Given the description of an element on the screen output the (x, y) to click on. 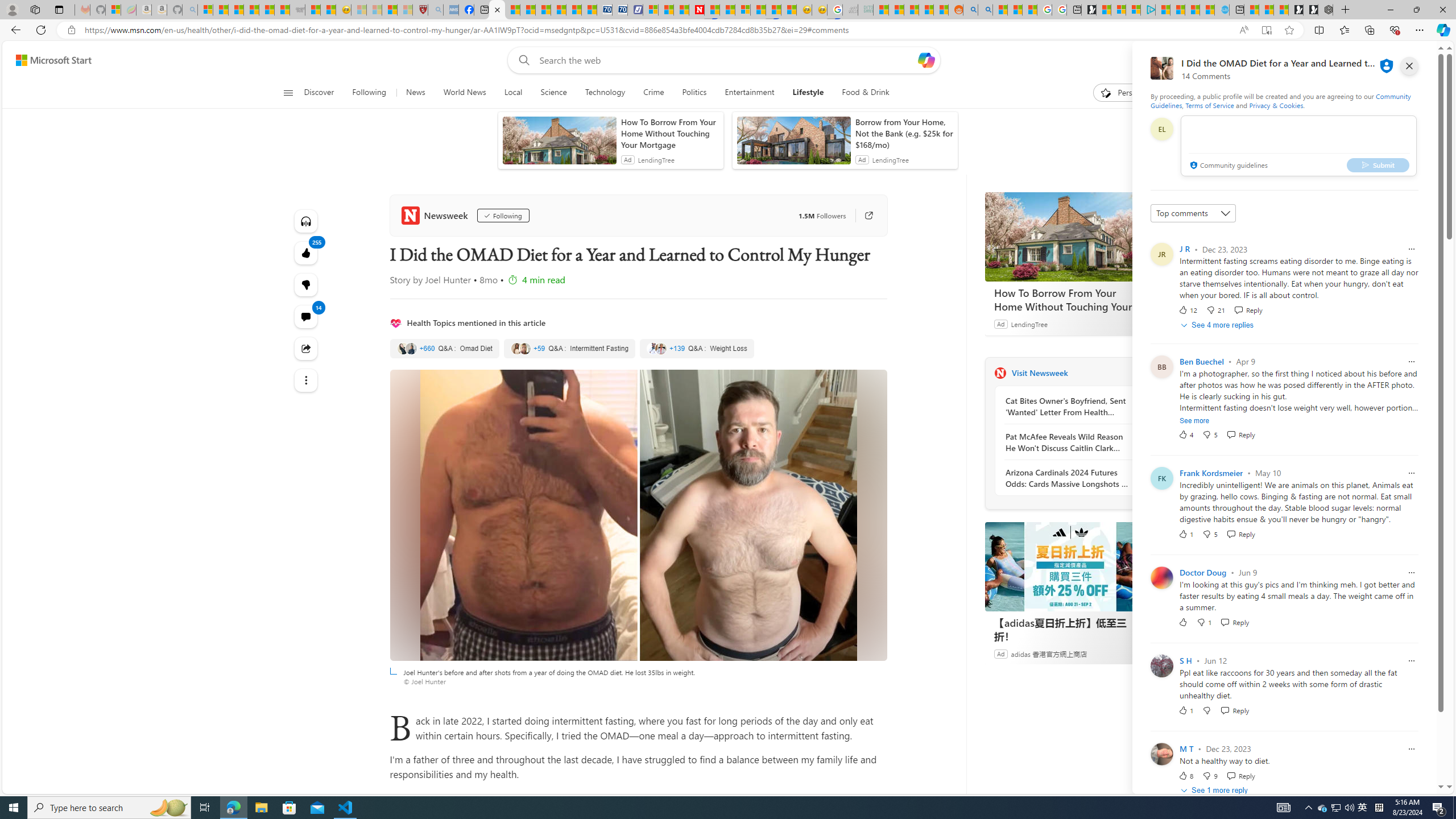
Borrow from Your Home, Not the Bank (e.g. $25k for $168/mo) (903, 133)
Ben Buechel (1201, 361)
